Given the description of an element on the screen output the (x, y) to click on. 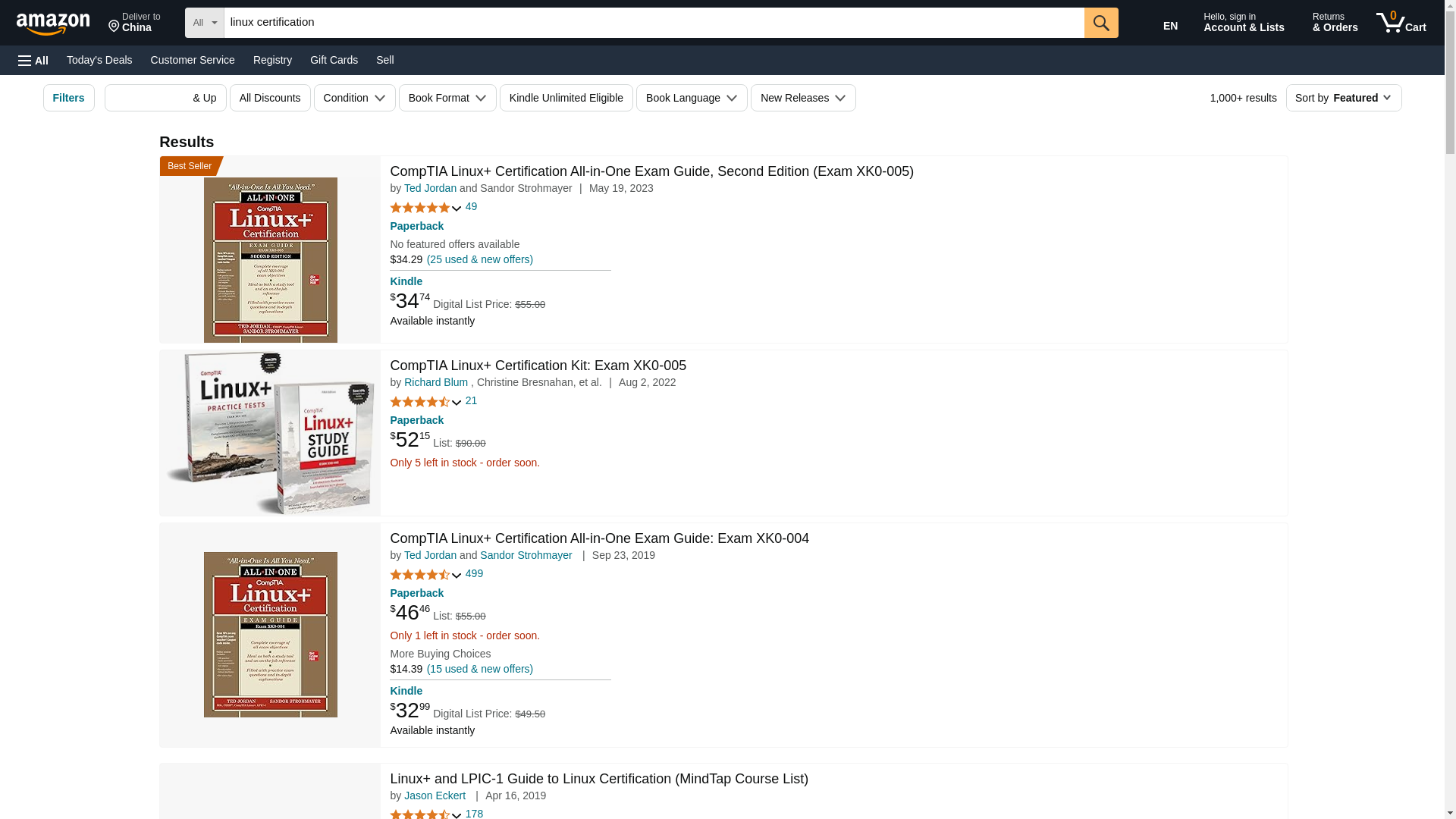
All Discounts (270, 97)
Sell (384, 59)
Customer Service (192, 59)
Registry (272, 59)
Go (1101, 22)
Kindle Unlimited Eligible (566, 97)
Skip to main content (134, 22)
Today's Deals (60, 21)
